Given the description of an element on the screen output the (x, y) to click on. 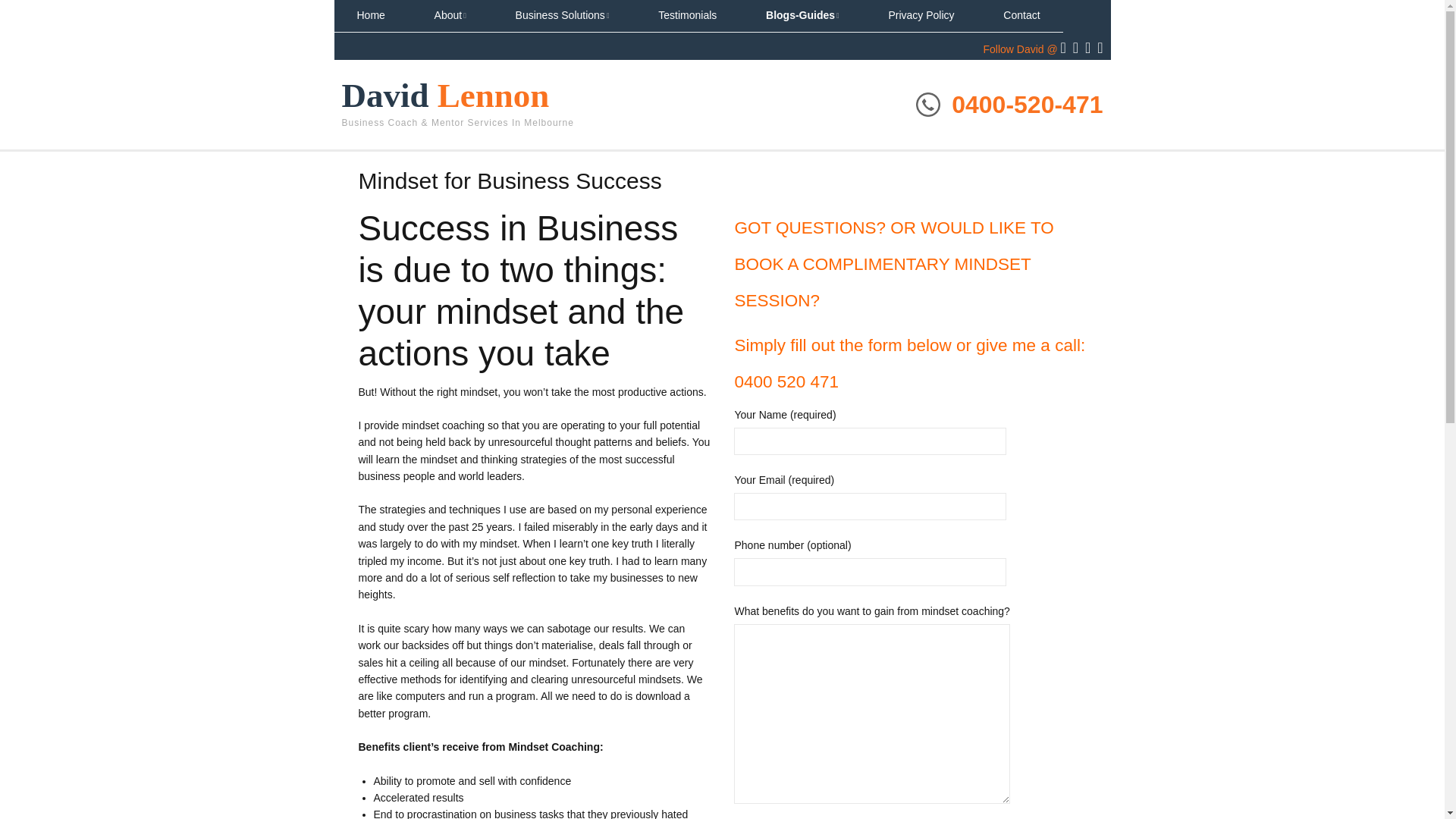
0400-520-471 (1027, 103)
David Lennon (444, 95)
Home (370, 15)
Blogs-Guides (801, 15)
Contact (1020, 15)
Testimonials (686, 15)
About (450, 15)
Business Solutions (562, 15)
Privacy Policy (920, 15)
